Given the description of an element on the screen output the (x, y) to click on. 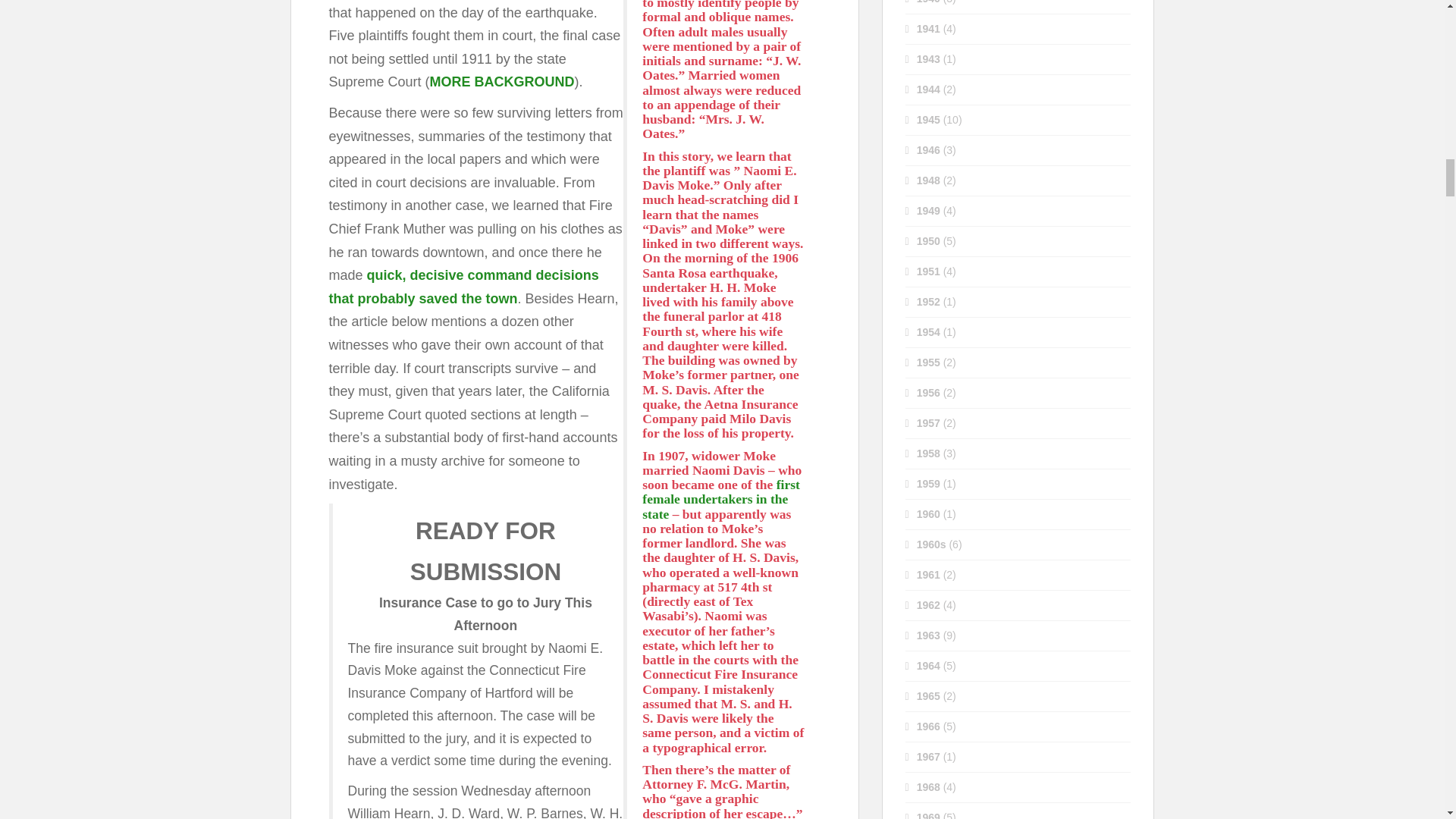
first female undertakers in the state (720, 498)
MORE BACKGROUND (502, 81)
